Given the description of an element on the screen output the (x, y) to click on. 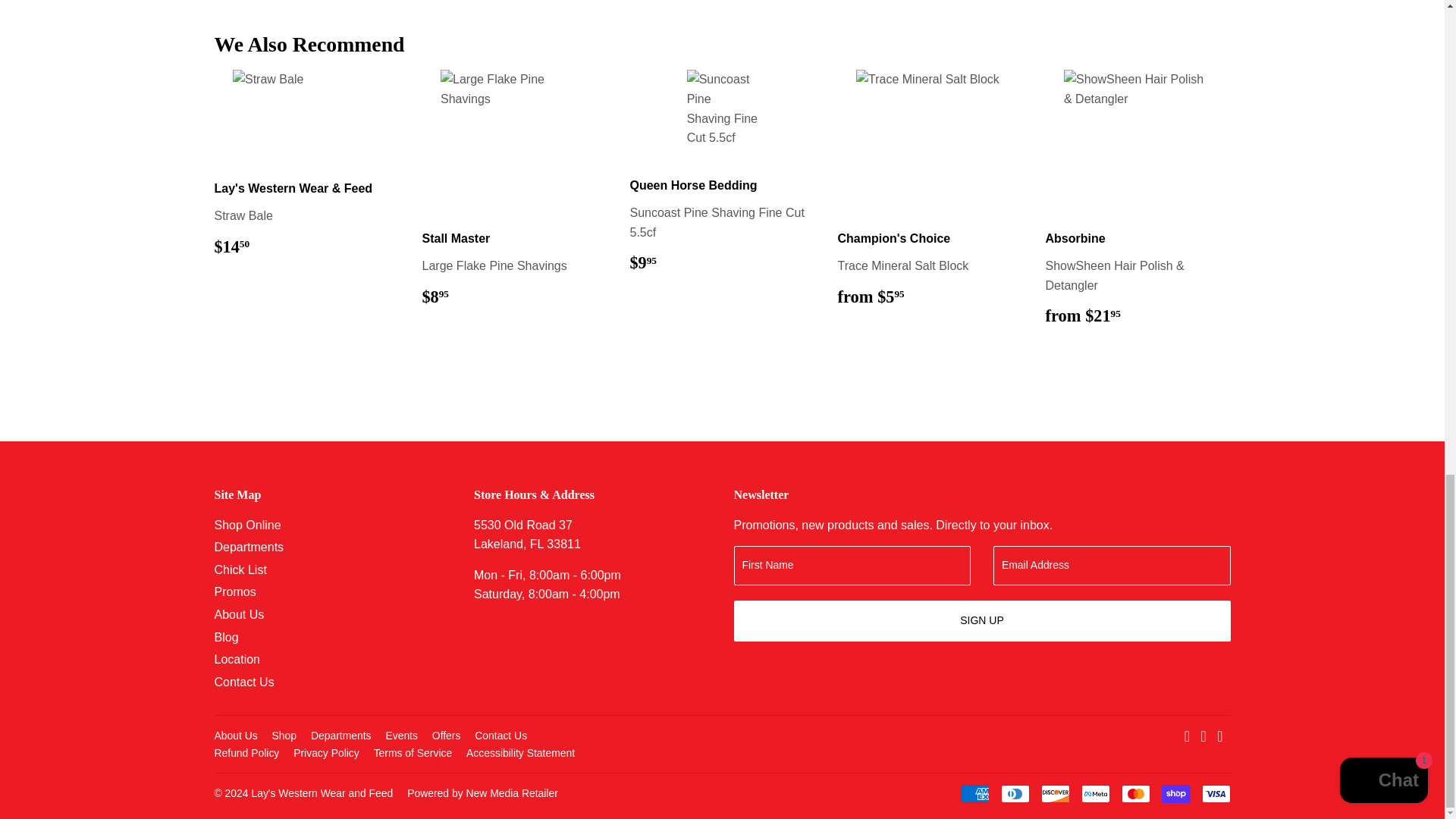
New Media Retailer (482, 793)
American Express (973, 793)
Visa (1215, 793)
Meta Pay (1095, 793)
Mastercard (1135, 793)
Discover (1054, 793)
Diners Club (1015, 793)
Shop Pay (1176, 793)
